Given the description of an element on the screen output the (x, y) to click on. 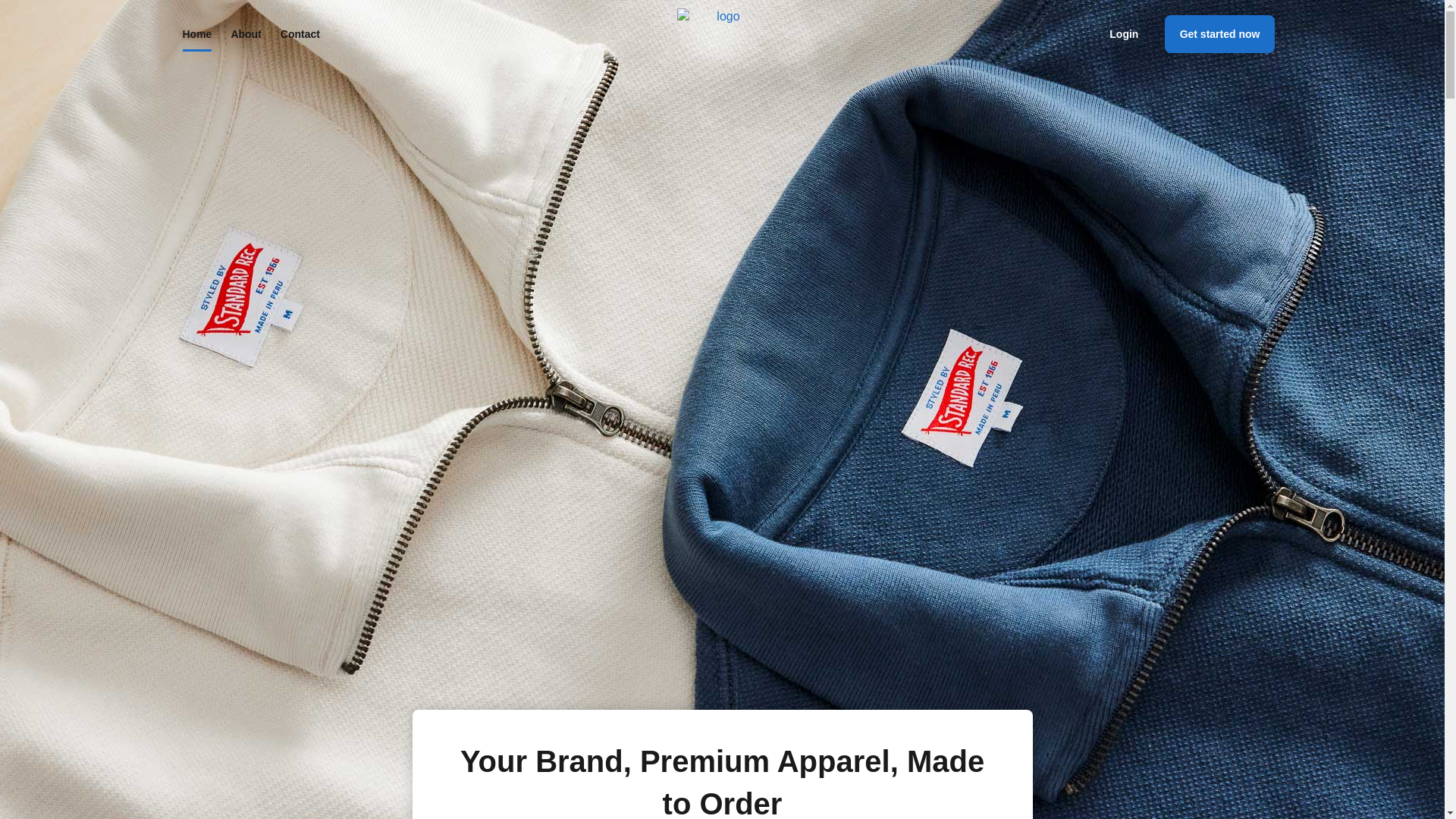
Contact (300, 33)
Get started now (1219, 34)
logo (722, 16)
Login (1123, 33)
